Given the description of an element on the screen output the (x, y) to click on. 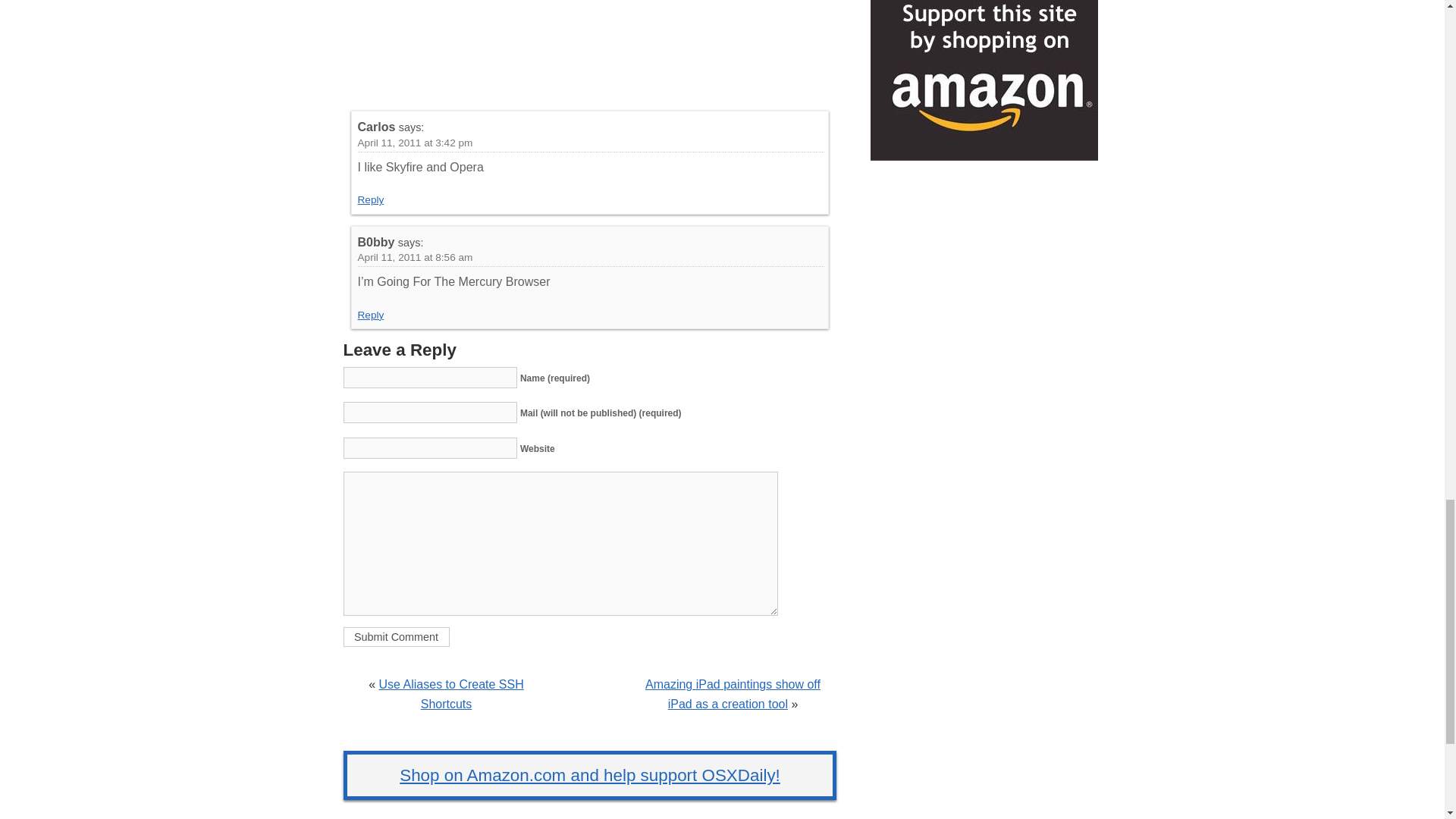
April 11, 2011 at 3:42 pm (415, 142)
Reply (371, 199)
Submit Comment (395, 637)
Reply (371, 315)
April 11, 2011 at 8:56 am (415, 256)
